Given the description of an element on the screen output the (x, y) to click on. 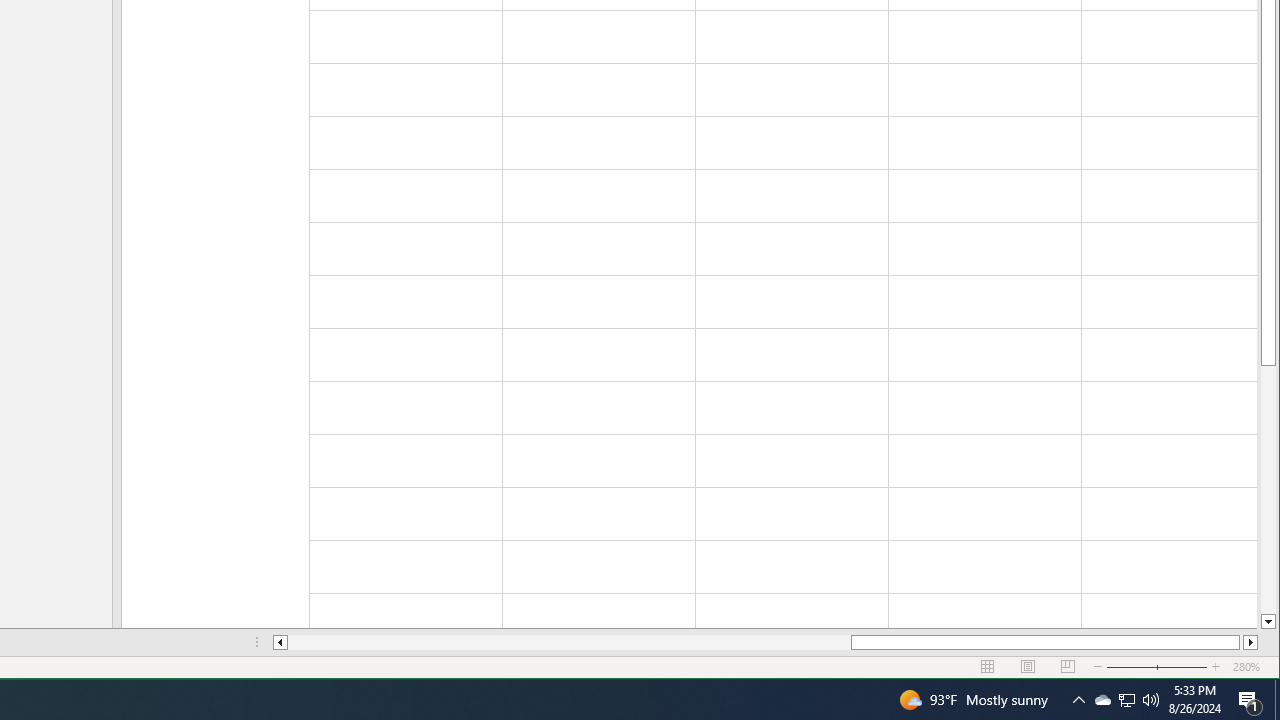
Page left (569, 642)
Action Center, 1 new notification (1126, 699)
User Promoted Notification Area (1250, 699)
Notification Chevron (1126, 699)
